Given the description of an element on the screen output the (x, y) to click on. 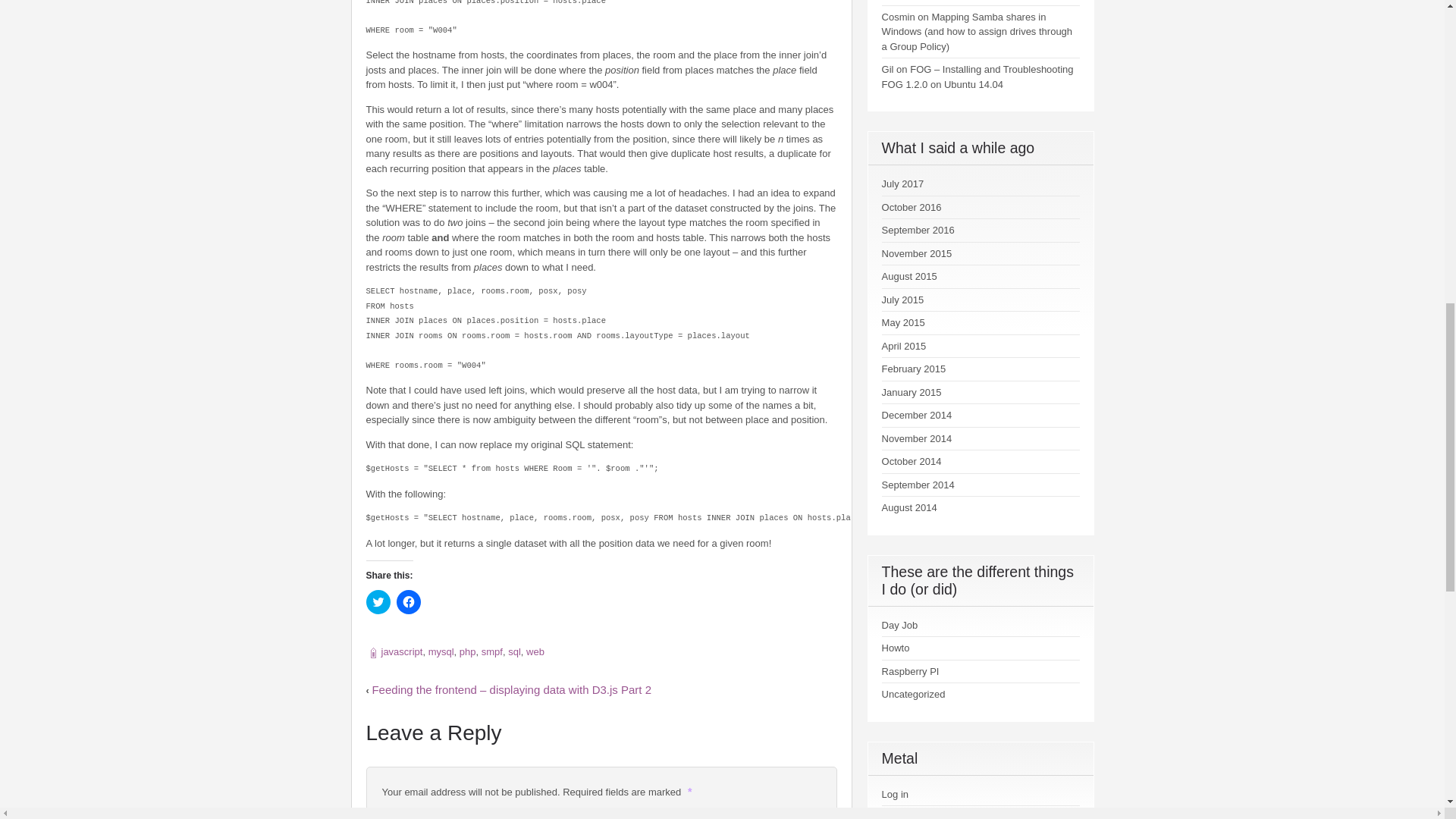
November 2015 (917, 253)
Click to share on Facebook (408, 601)
September 2016 (918, 229)
Click to share on Twitter (377, 601)
smpf (491, 651)
April 2015 (904, 346)
May 2015 (903, 322)
php (468, 651)
javascript (401, 651)
October 2016 (912, 206)
